Given the description of an element on the screen output the (x, y) to click on. 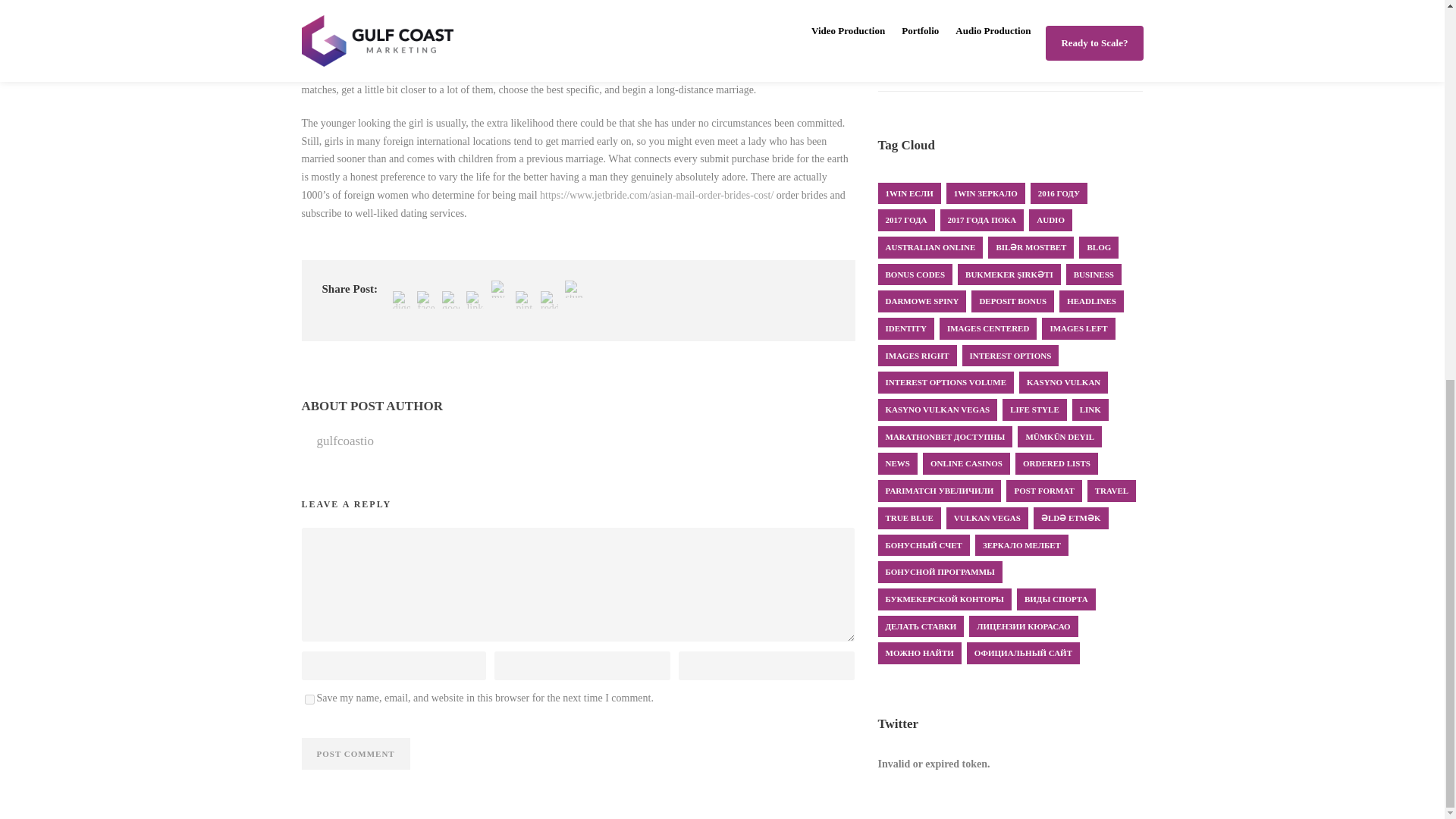
Post Comment (355, 753)
Post Comment (355, 753)
gulfcoastio (345, 440)
Posts by gulfcoastio (345, 440)
yes (309, 699)
